Given the description of an element on the screen output the (x, y) to click on. 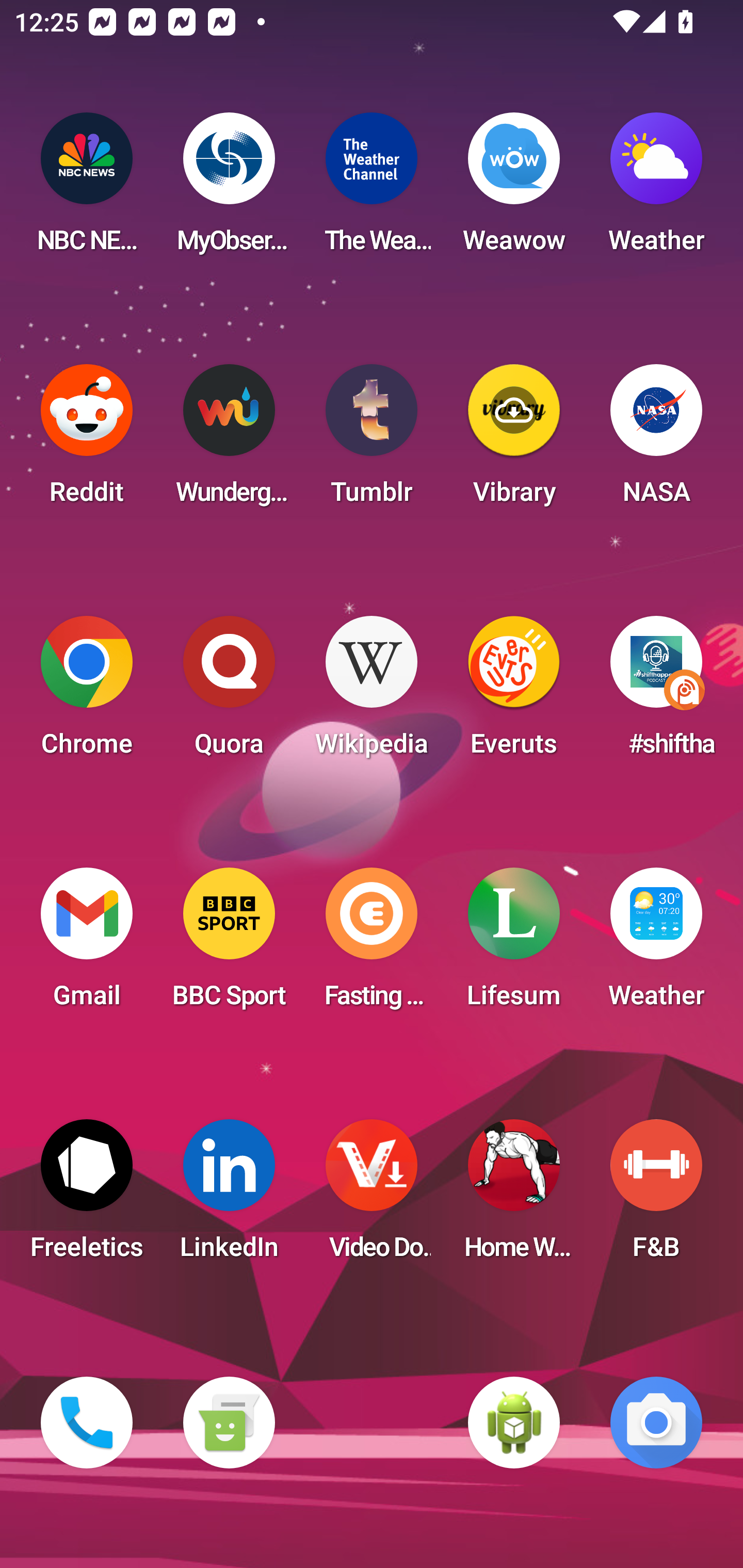
NBC NEWS (86, 188)
MyObservatory (228, 188)
The Weather Channel (371, 188)
Weawow (513, 188)
Weather (656, 188)
Reddit (86, 440)
Wunderground (228, 440)
Tumblr (371, 440)
Vibrary (513, 440)
NASA (656, 440)
Chrome (86, 692)
Quora (228, 692)
Wikipedia (371, 692)
Everuts (513, 692)
#shifthappens in the Digital Workplace Podcast (656, 692)
Gmail (86, 943)
BBC Sport (228, 943)
Fasting Coach (371, 943)
Lifesum (513, 943)
Weather (656, 943)
Freeletics (86, 1195)
LinkedIn (228, 1195)
Video Downloader & Ace Player (371, 1195)
Home Workout (513, 1195)
F&B (656, 1195)
Phone (86, 1422)
Messaging (228, 1422)
WebView Browser Tester (513, 1422)
Camera (656, 1422)
